Given the description of an element on the screen output the (x, y) to click on. 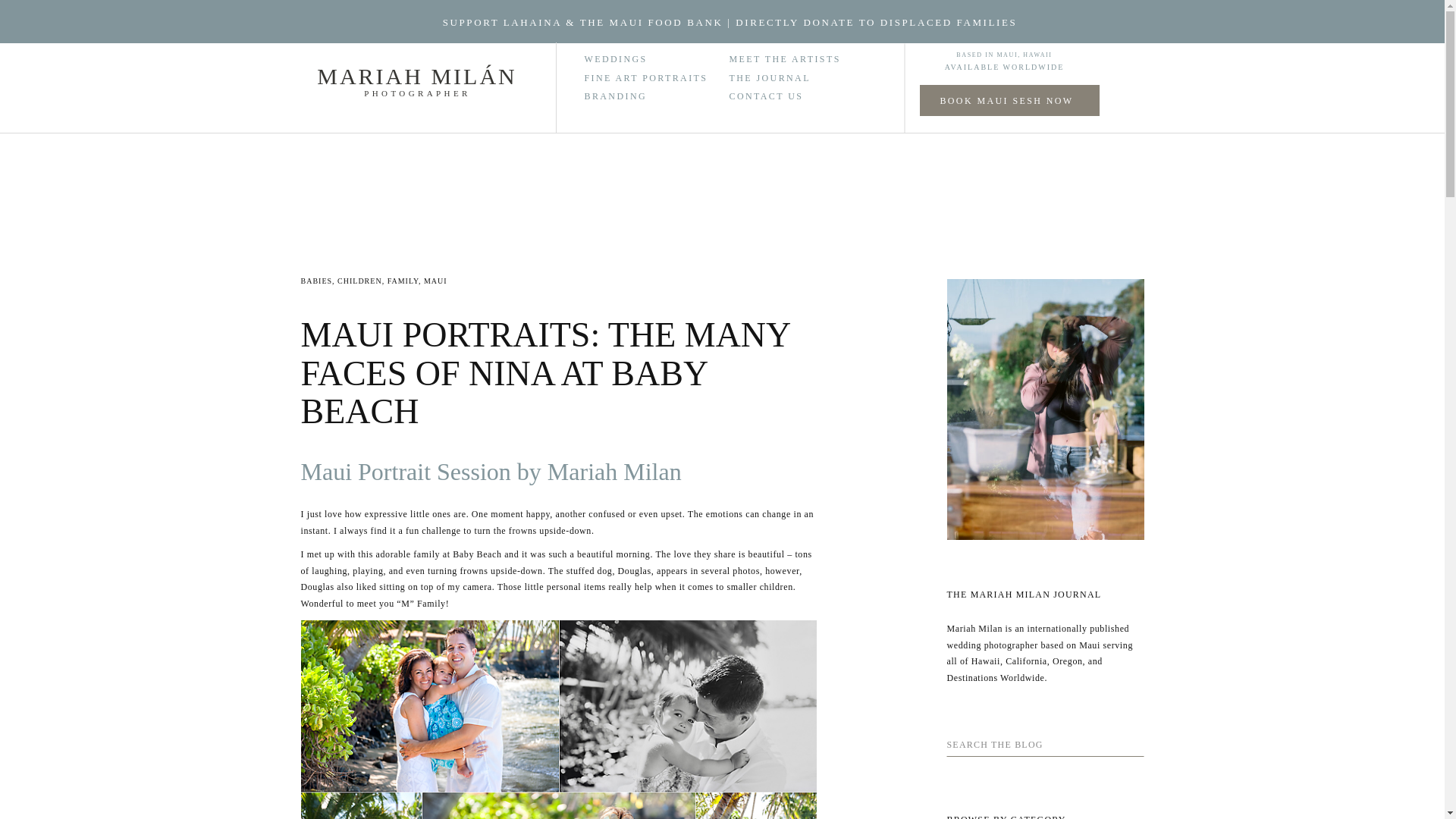
BRANDING (657, 95)
FAMILY (403, 280)
FINE ART PORTRAITS (657, 76)
MEET THE ARTISTS (807, 55)
CHILDREN (359, 280)
WEDDINGS (622, 57)
THE JOURNAL (772, 74)
BABIES (315, 280)
MAUI (434, 280)
DIRECTLY DONATE TO DISPLACED FAMILIES (875, 21)
